Given the description of an element on the screen output the (x, y) to click on. 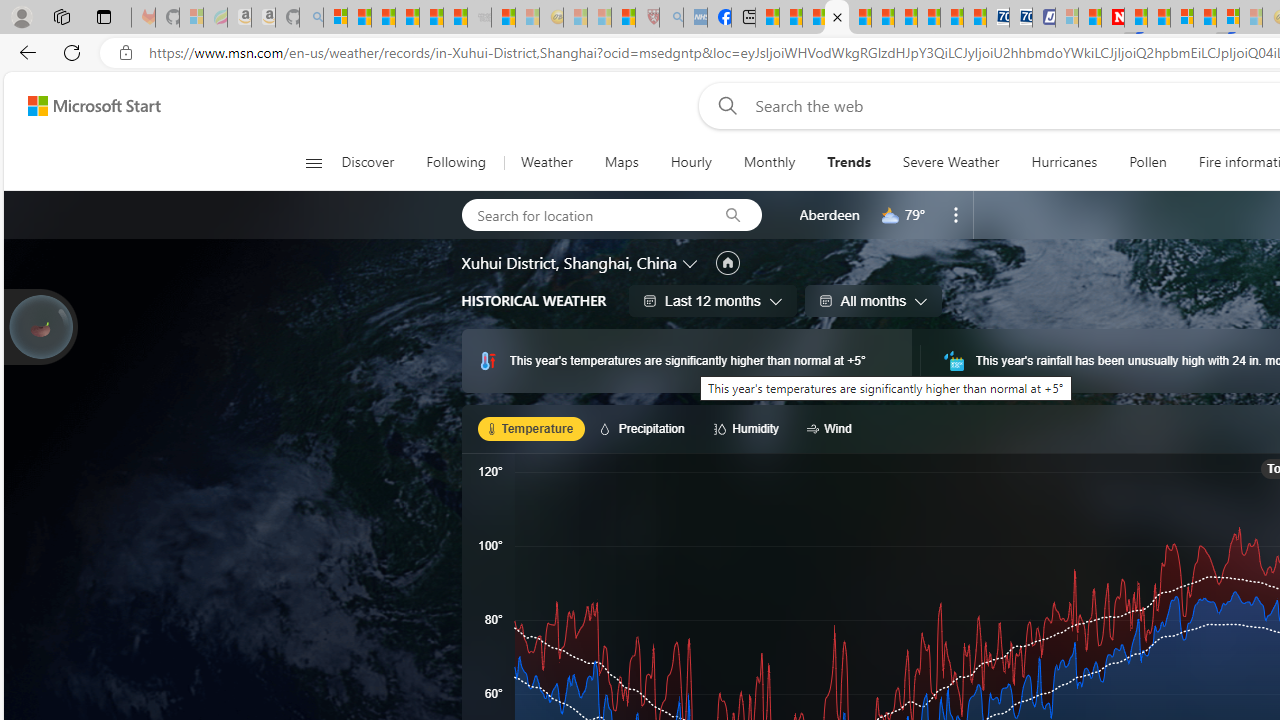
Join us in planting real trees to help our planet! (40, 325)
Pollen (1147, 162)
Severe Weather (950, 162)
